Given the description of an element on the screen output the (x, y) to click on. 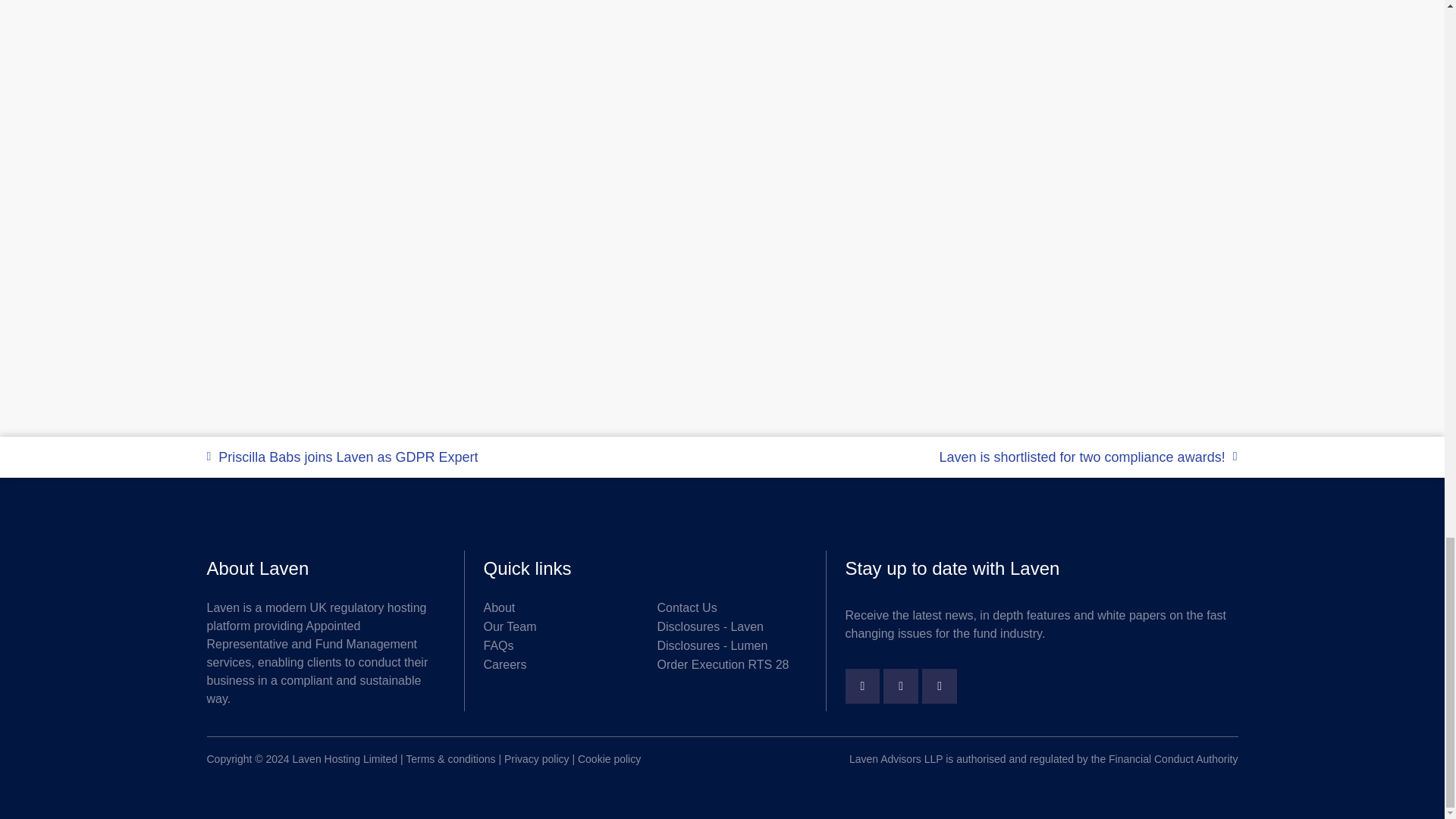
About (551, 607)
Our Team (551, 627)
Laven is shortlisted for two compliance awards! (979, 456)
Priscilla Babs joins Laven as GDPR Expert (464, 456)
